Given the description of an element on the screen output the (x, y) to click on. 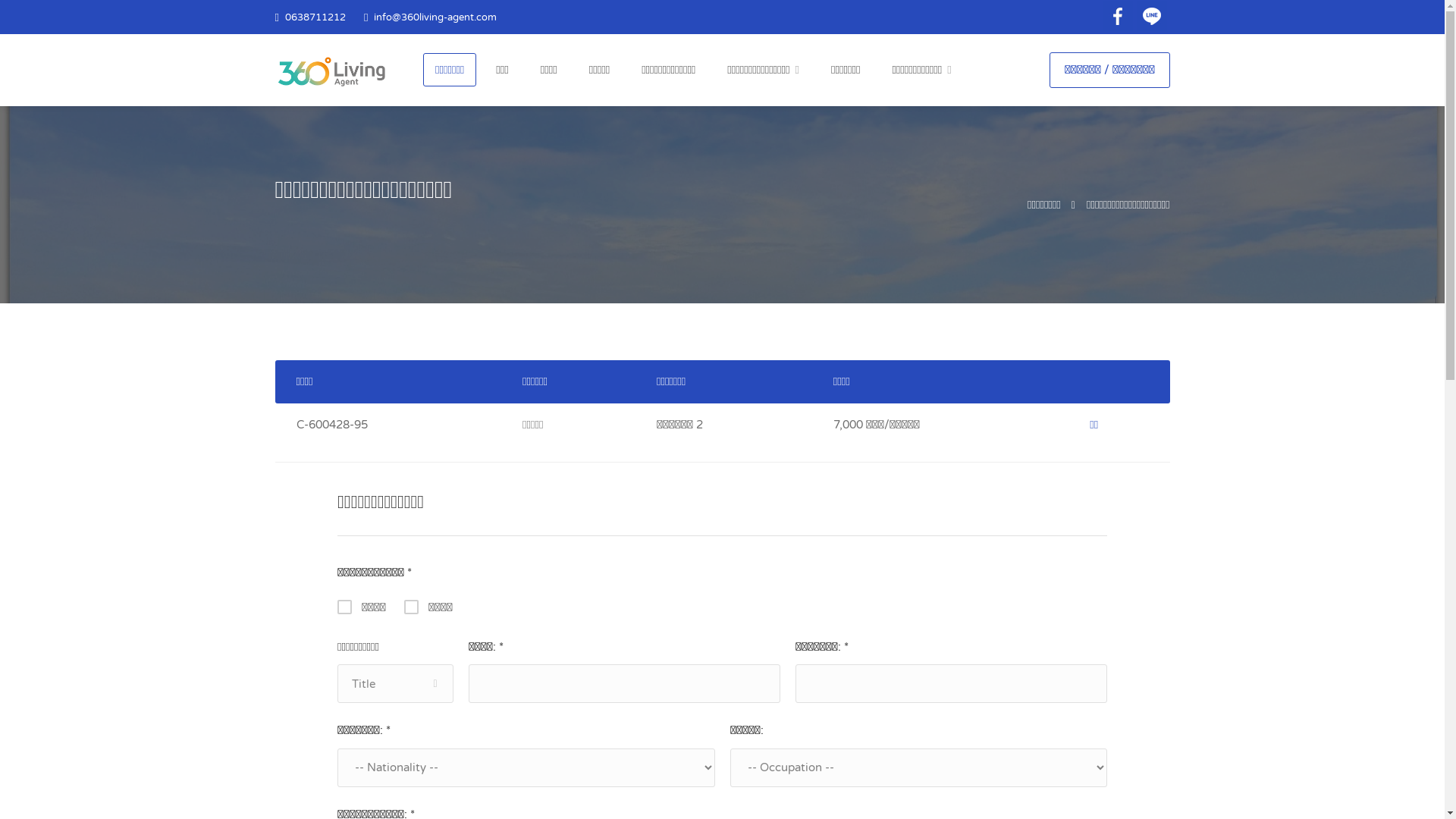
info@360living-agent.com Element type: text (434, 17)
Title Element type: text (394, 683)
info@360living-agent.com Element type: text (1074, 677)
